Given the description of an element on the screen output the (x, y) to click on. 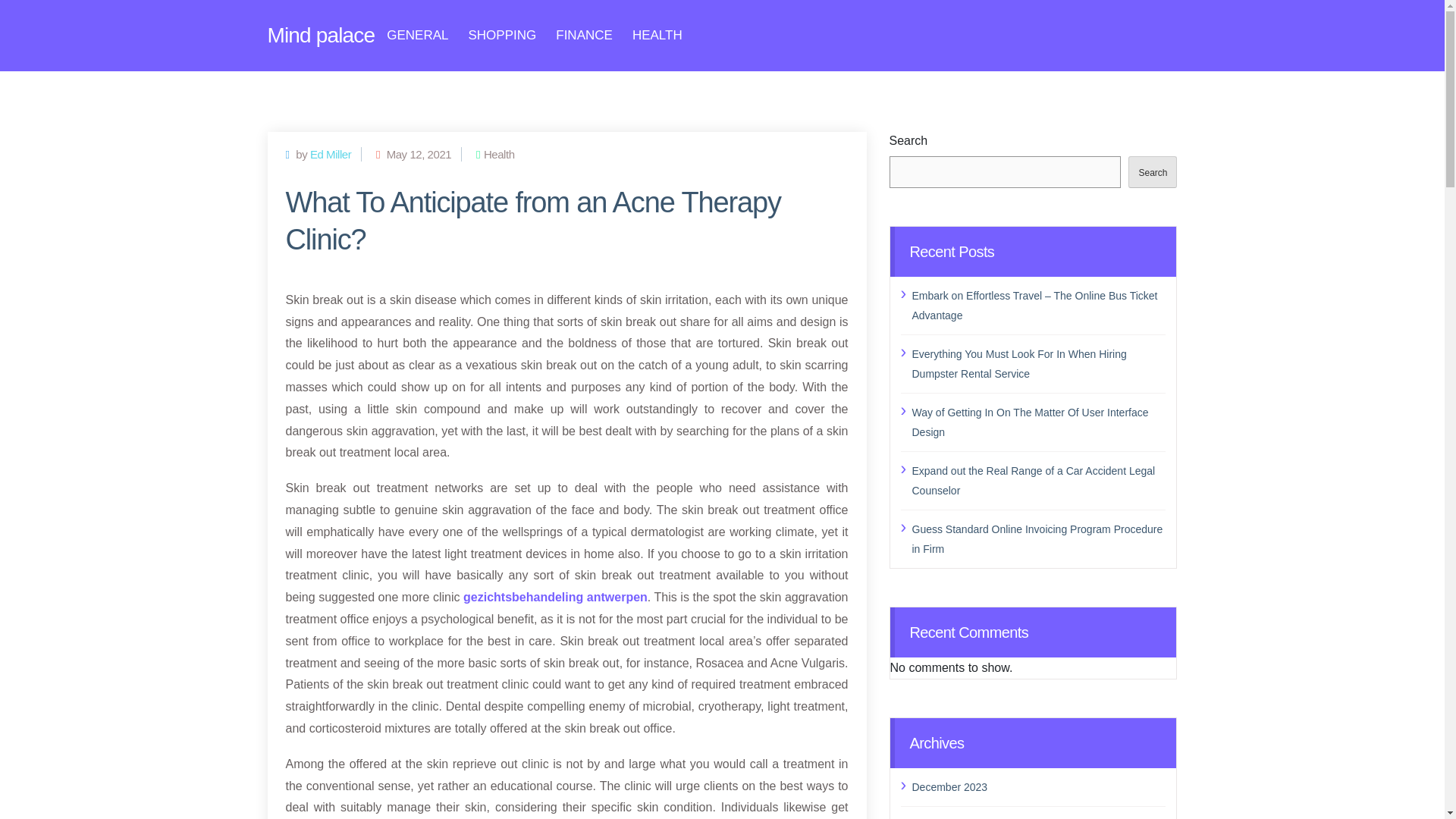
December 2023 (1038, 786)
HEALTH (656, 35)
Expand out the Real Range of a Car Accident Legal Counselor (1038, 480)
GENERAL (417, 35)
gezichtsbehandeling antwerpen (555, 596)
Mind palace (320, 35)
June 2023 (1038, 817)
Ed Miller (330, 153)
Guess Standard Online Invoicing Program Procedure in Firm (1038, 537)
Way of Getting In On The Matter Of User Interface Design (1038, 421)
FINANCE (584, 35)
SHOPPING (502, 35)
Search (1152, 172)
